Given the description of an element on the screen output the (x, y) to click on. 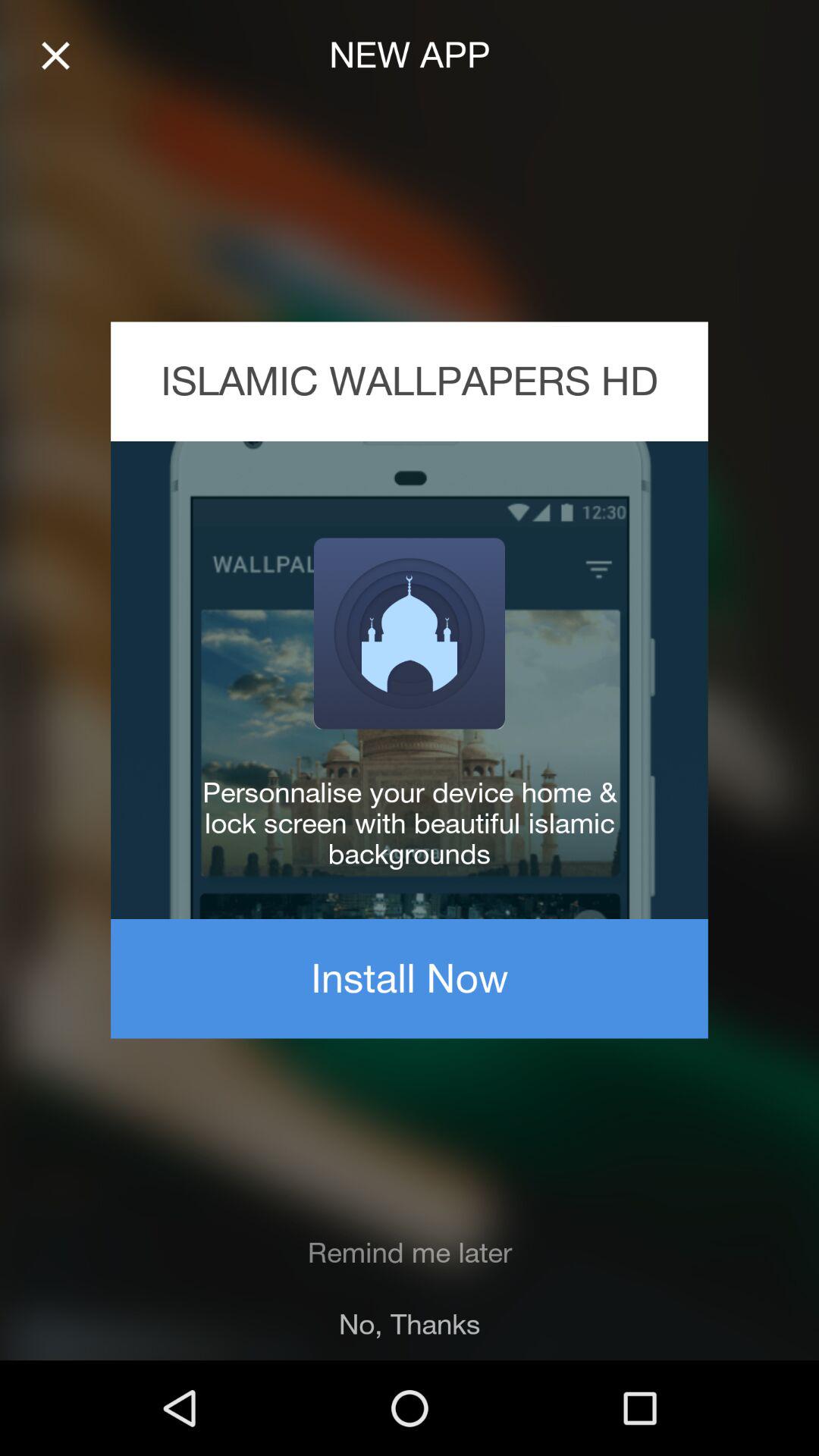
launch remind me later (409, 1252)
